Given the description of an element on the screen output the (x, y) to click on. 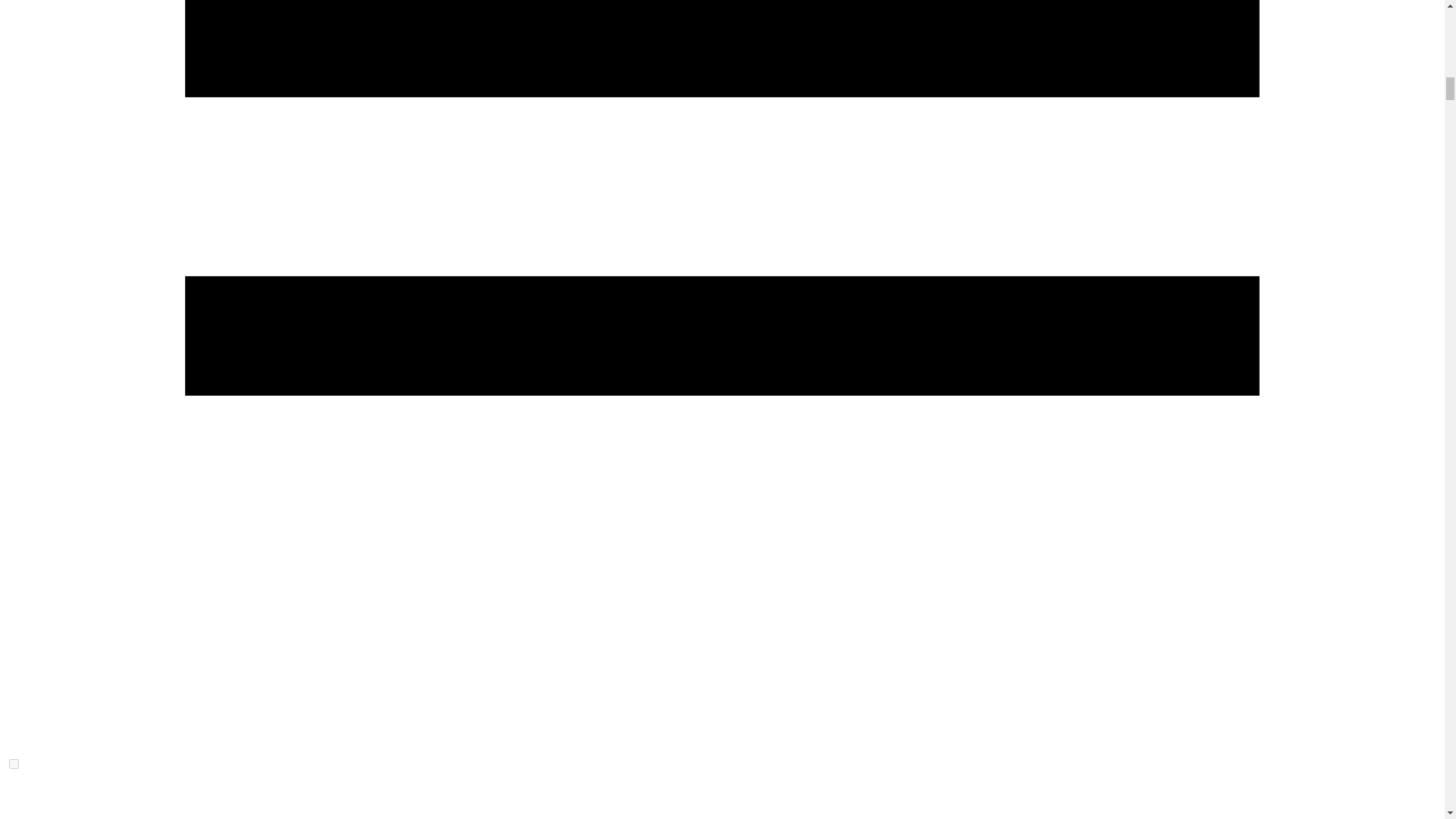
on (13, 764)
